Given the description of an element on the screen output the (x, y) to click on. 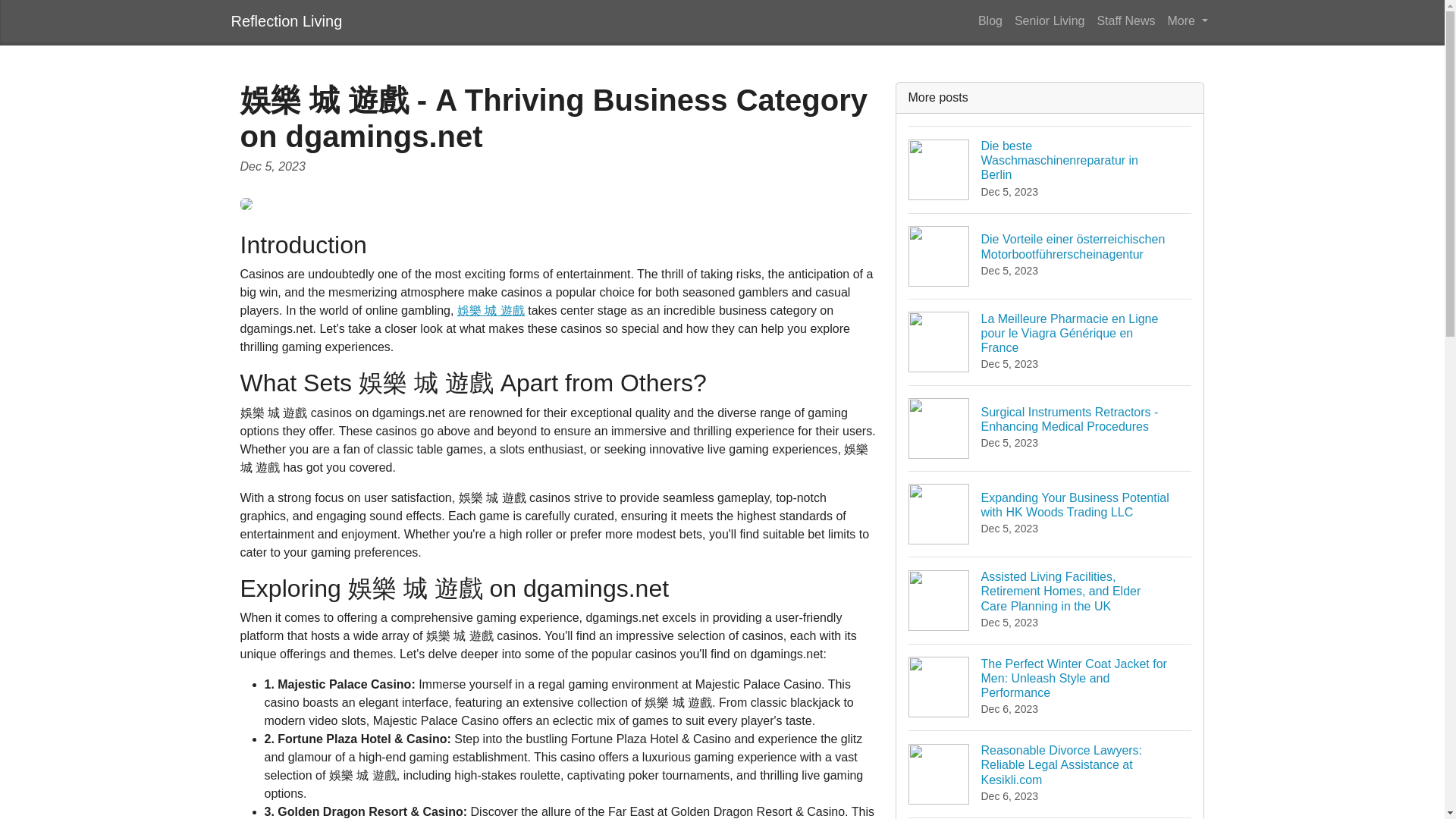
Senior Living (1049, 20)
Blog (1050, 169)
More (990, 20)
Reflection Living (1187, 20)
Staff News (286, 20)
